Given the description of an element on the screen output the (x, y) to click on. 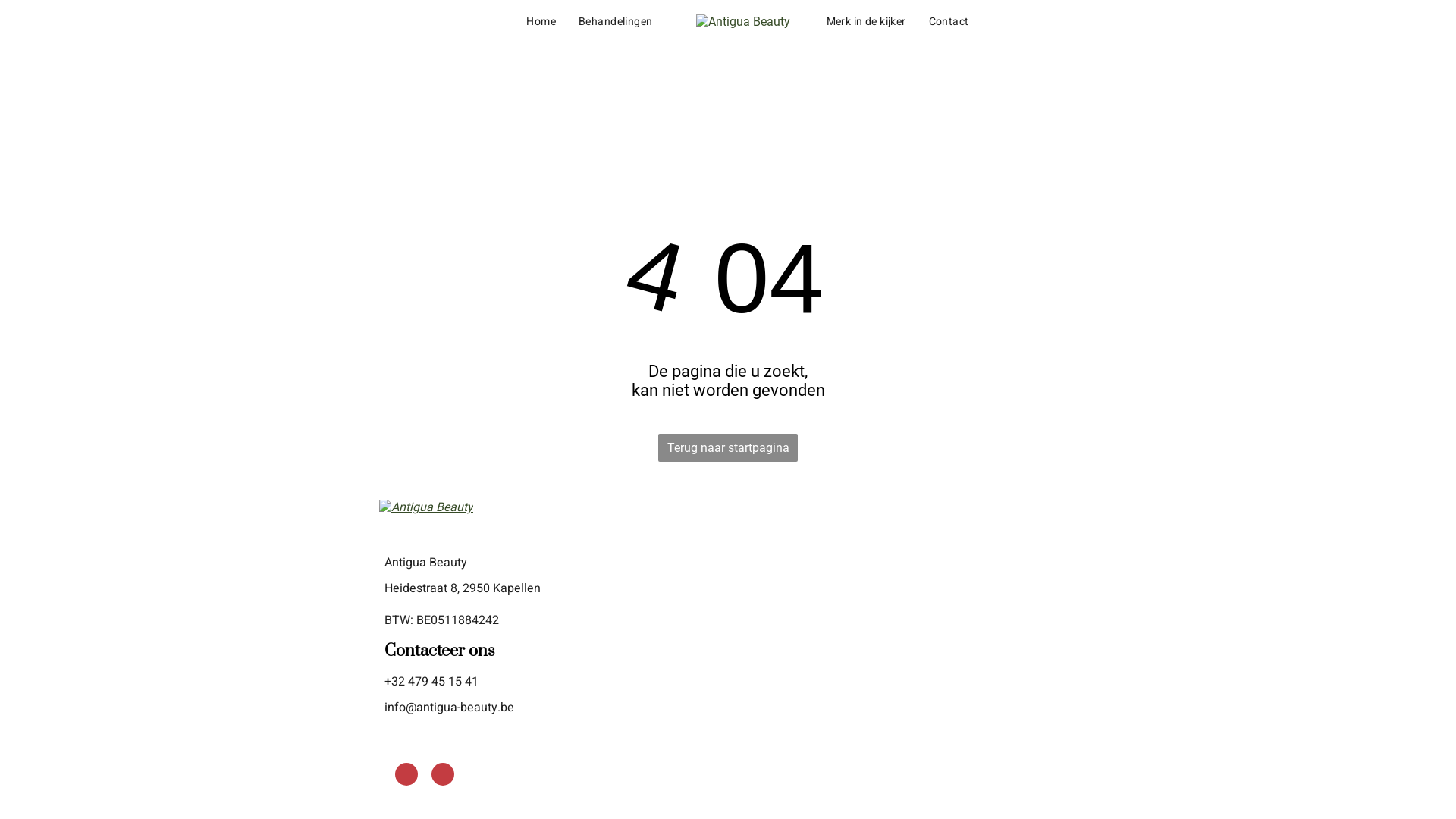
Home Element type: text (540, 21)
Terug naar startpagina Element type: text (727, 447)
info@antigua-beauty.be Element type: text (449, 707)
Contact Element type: text (948, 21)
Merk in de kijker Element type: text (865, 21)
Heidestraat 8, 2950 Kapellen Element type: text (462, 588)
Behandelingen Element type: text (619, 21)
